Given the description of an element on the screen output the (x, y) to click on. 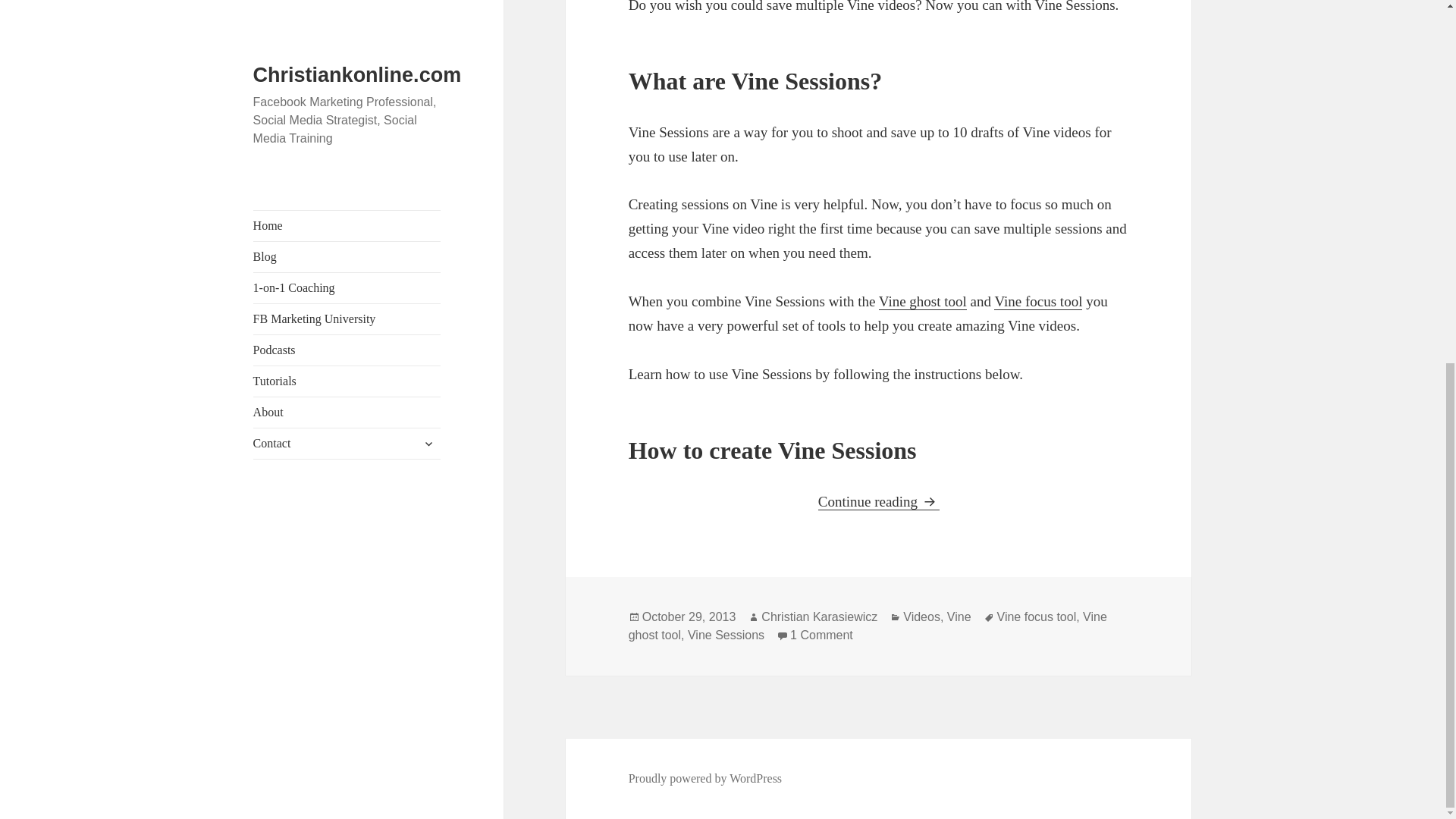
October 29, 2013 (689, 617)
Vine focus tool (1037, 617)
Vine Sessions (725, 635)
Vine focus tool (1037, 301)
Vine ghost tool (922, 301)
Vine focus tool (1037, 301)
Videos (921, 617)
Vine ghost tool (867, 626)
1 Comment (821, 635)
